Given the description of an element on the screen output the (x, y) to click on. 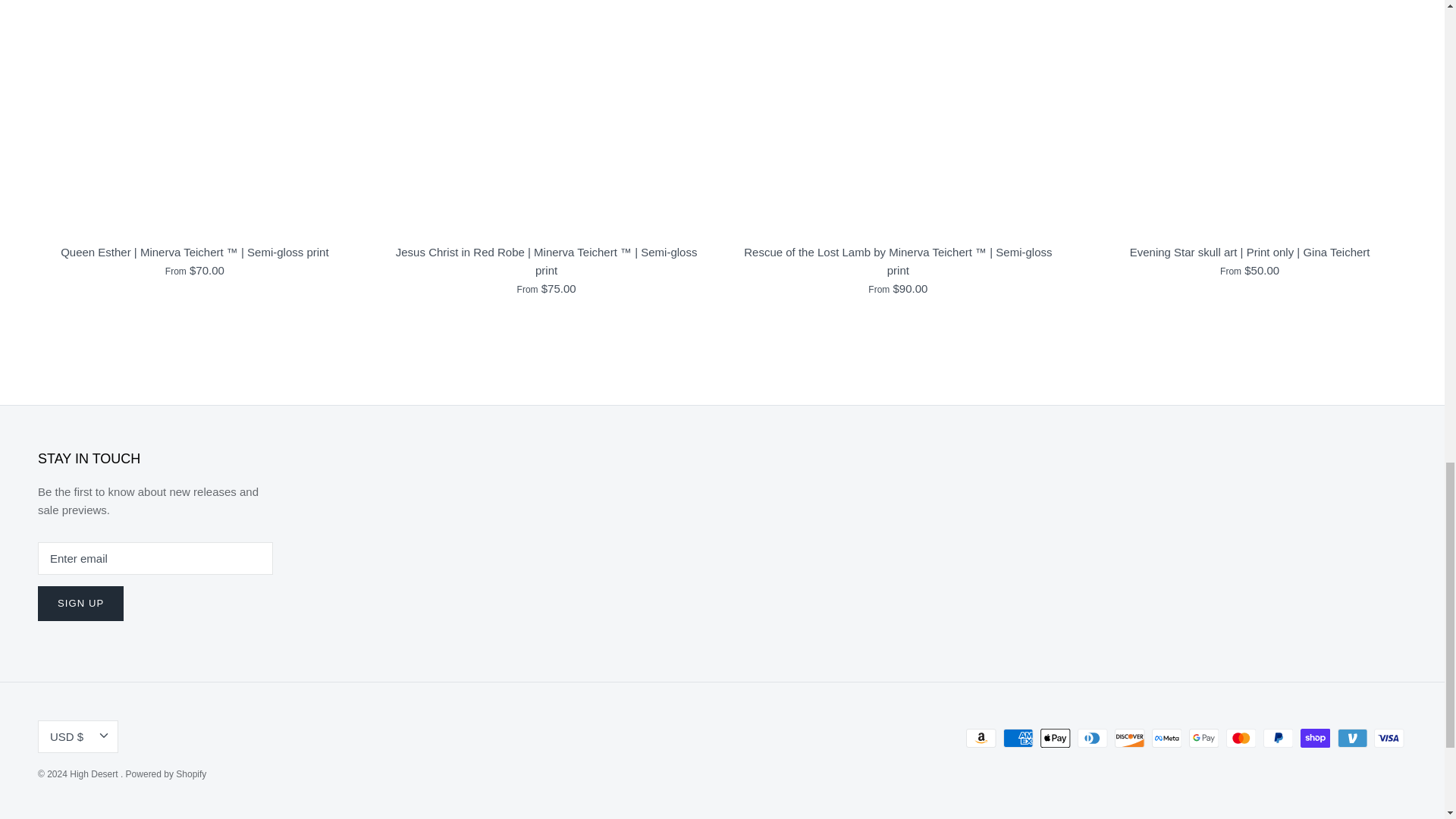
Amazon (980, 737)
Meta Pay (1166, 737)
Mastercard (1240, 737)
Diners Club (1092, 737)
Apple Pay (1055, 737)
Discover (1129, 737)
American Express (1018, 737)
Google Pay (1203, 737)
